Given the description of an element on the screen output the (x, y) to click on. 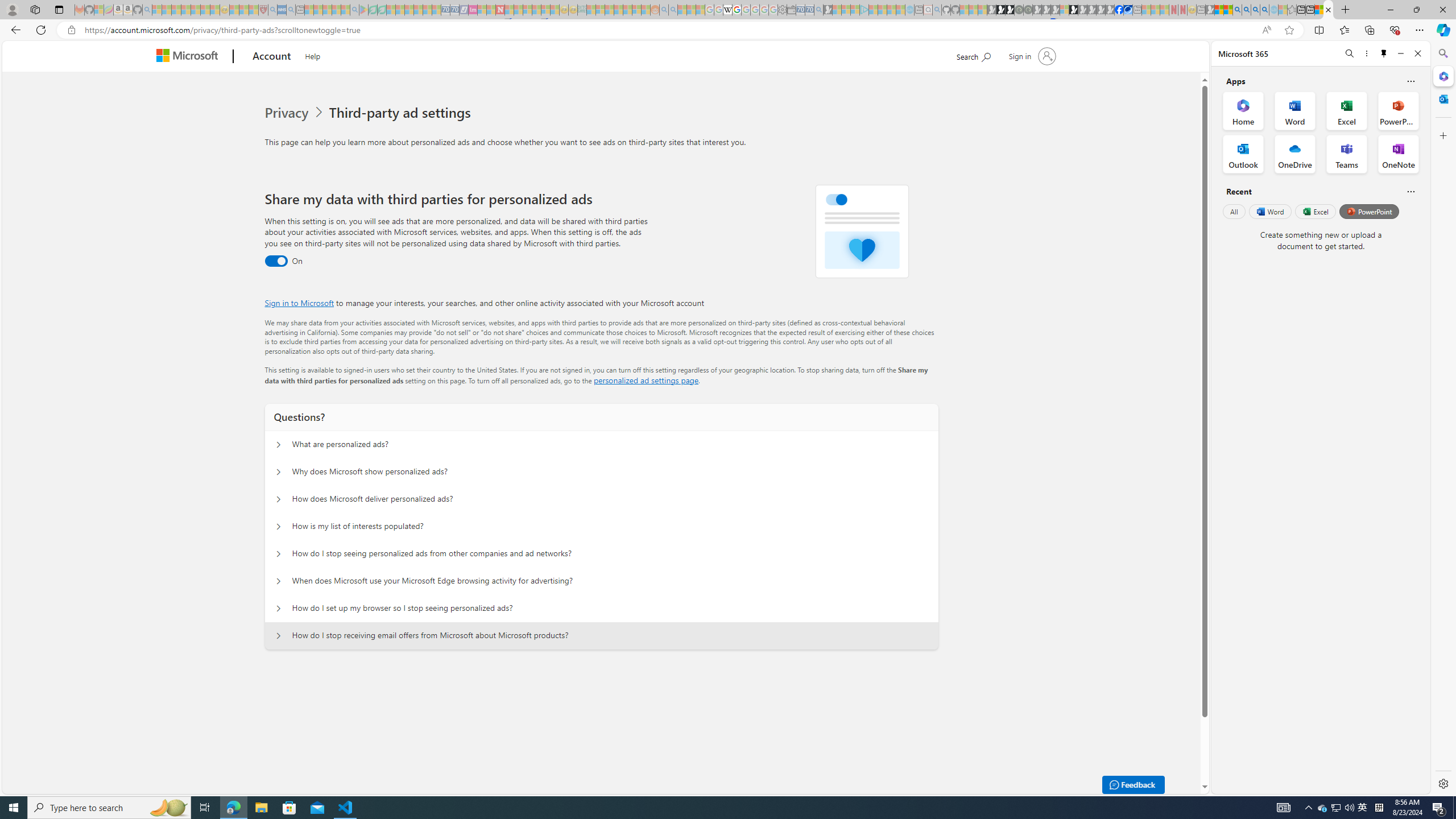
Google Chrome Internet Browser Download - Search Images (1264, 9)
Teams Office App (1346, 154)
Questions? Why does Microsoft show personalized ads? (278, 472)
